Given the description of an element on the screen output the (x, y) to click on. 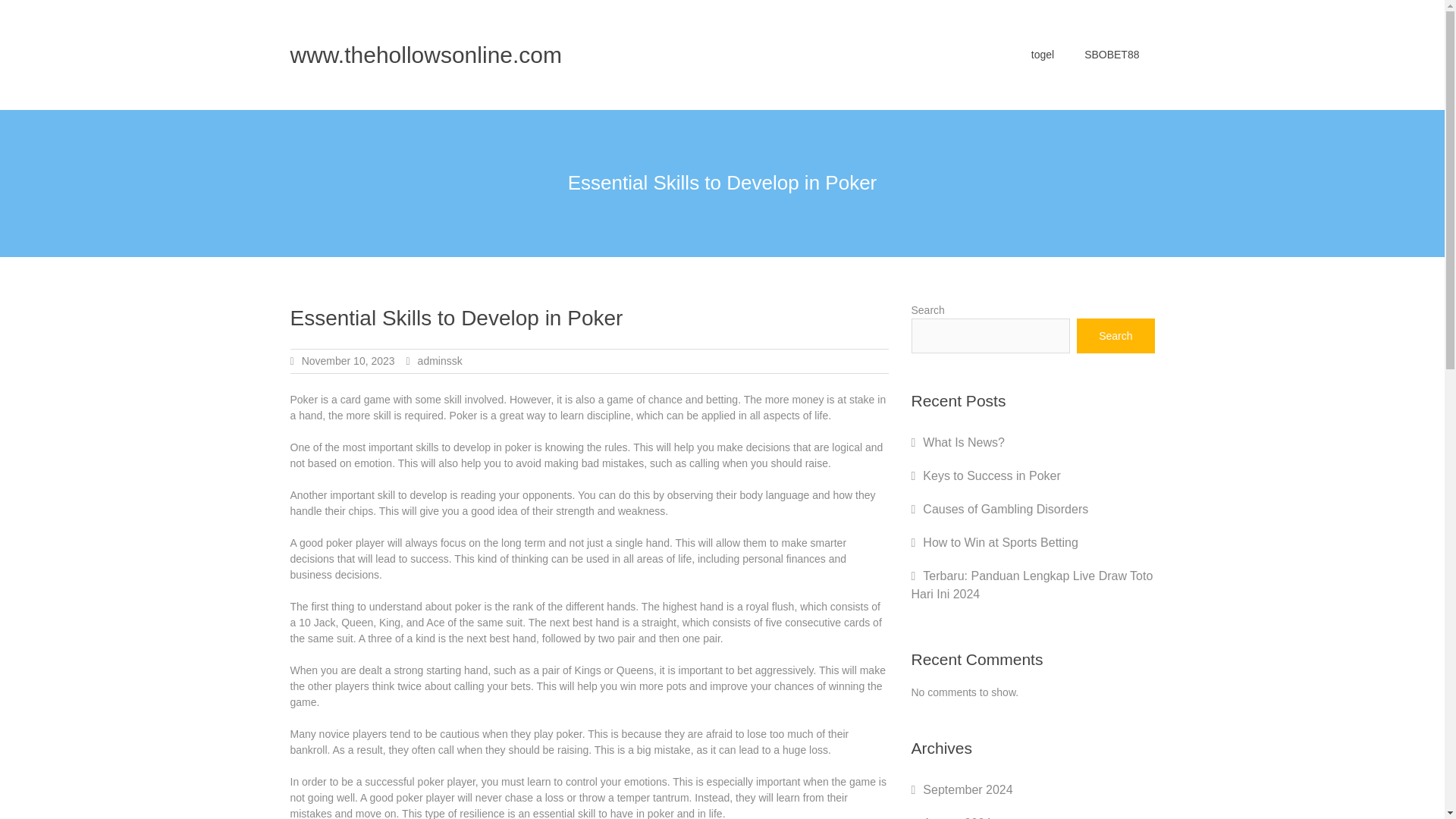
August 2024 (957, 817)
How to Win at Sports Betting (1000, 542)
What Is News? (963, 441)
Causes of Gambling Disorders (1005, 508)
SBOBET88 (1111, 55)
November 10, 2023 (347, 360)
togel (1042, 55)
adminssk (440, 360)
www.thehollowsonline.com (425, 54)
September 2024 (967, 789)
